Given the description of an element on the screen output the (x, y) to click on. 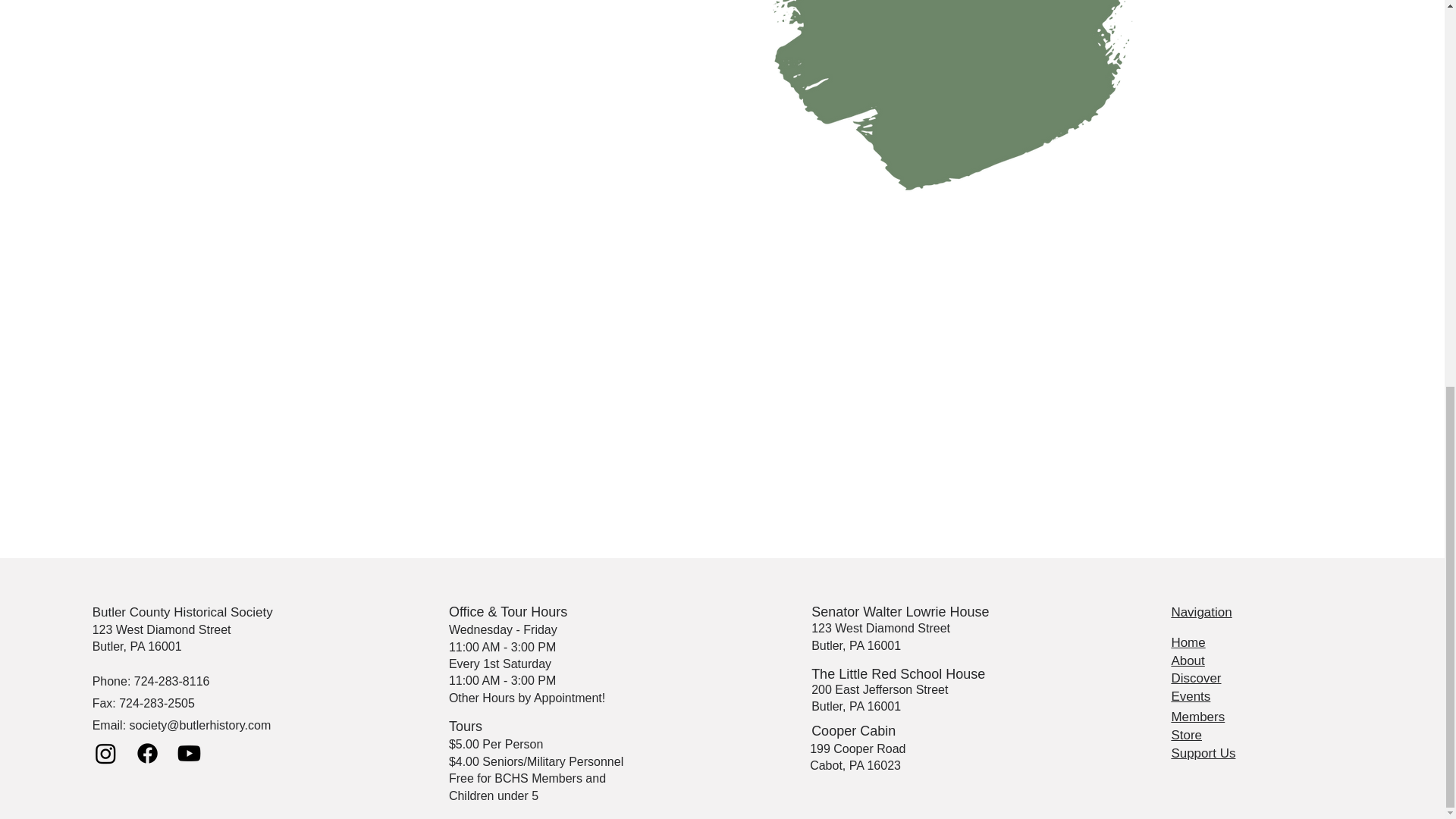
Store (1186, 735)
Support Us (1202, 753)
About (1187, 660)
Events (1189, 696)
Members (1197, 716)
Home (1187, 642)
Discover (1195, 677)
